Given the description of an element on the screen output the (x, y) to click on. 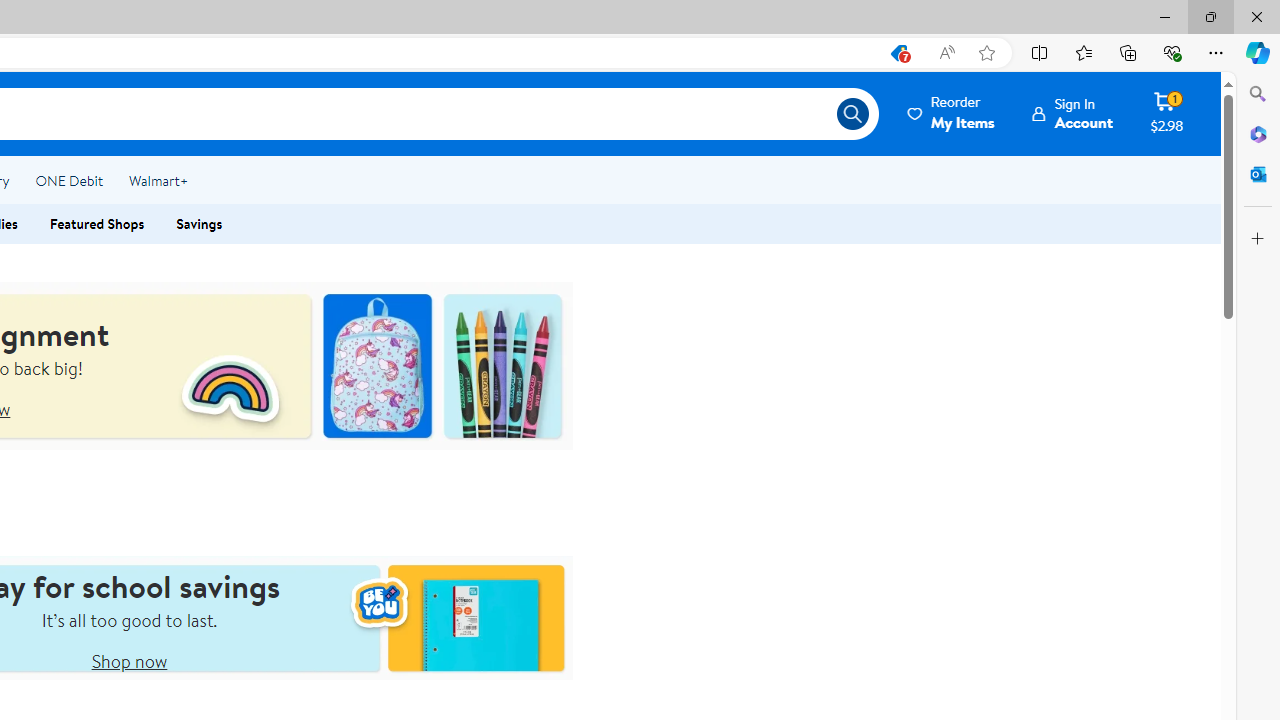
This site has coupons! Shopping in Microsoft Edge, 7 (898, 53)
Reorder My Items (952, 113)
ONE Debit (68, 180)
Search icon (852, 113)
Featured Shops (97, 224)
Sign InAccount (1072, 113)
Walmart+ (158, 180)
Walmart+ (158, 180)
